Given the description of an element on the screen output the (x, y) to click on. 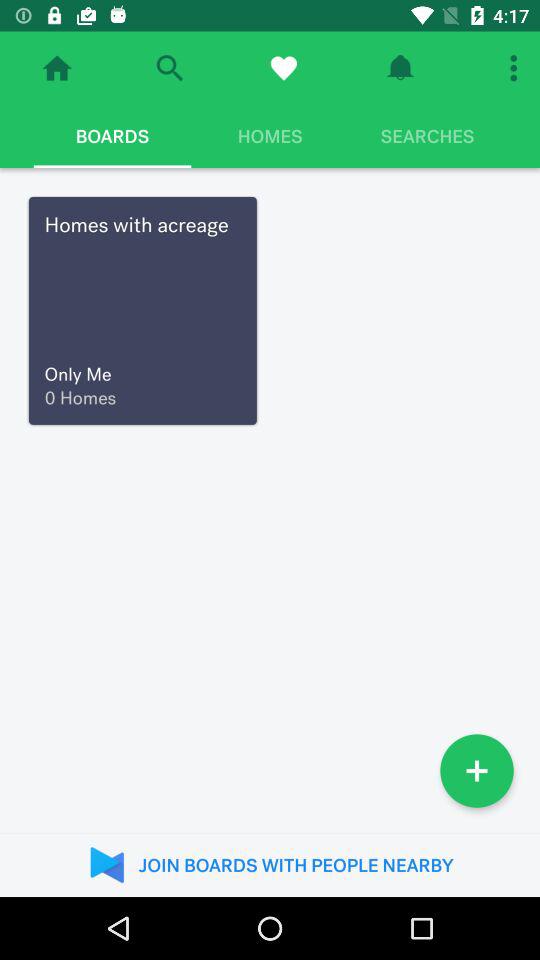
turn on item next to the homes icon (427, 136)
